Given the description of an element on the screen output the (x, y) to click on. 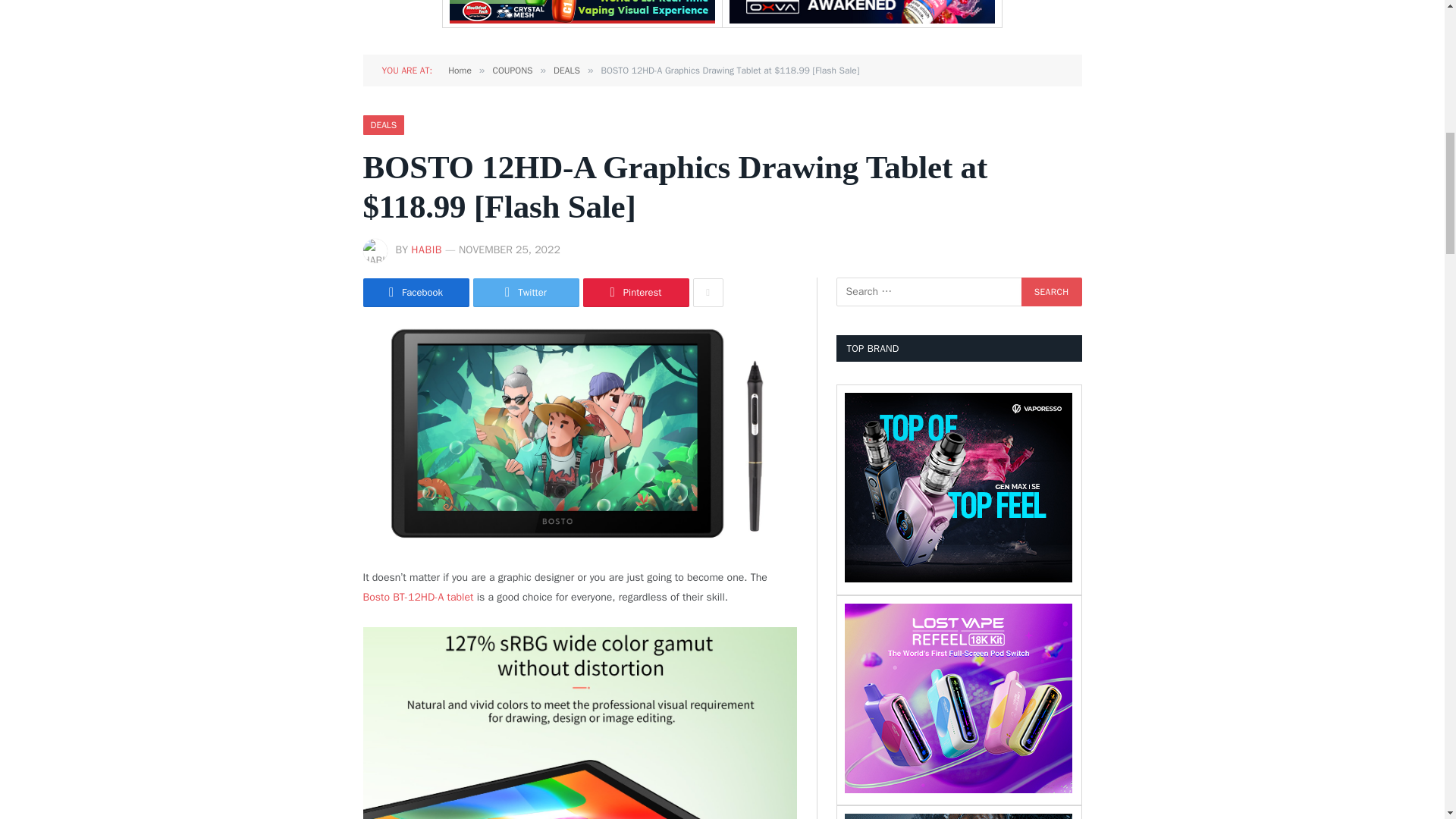
Share on Pinterest (635, 292)
Posts by Habib (426, 249)
Search (1051, 291)
Search (1051, 291)
Show More Social Sharing (708, 292)
Share on Facebook (415, 292)
Share on Twitter (526, 292)
